Given the description of an element on the screen output the (x, y) to click on. 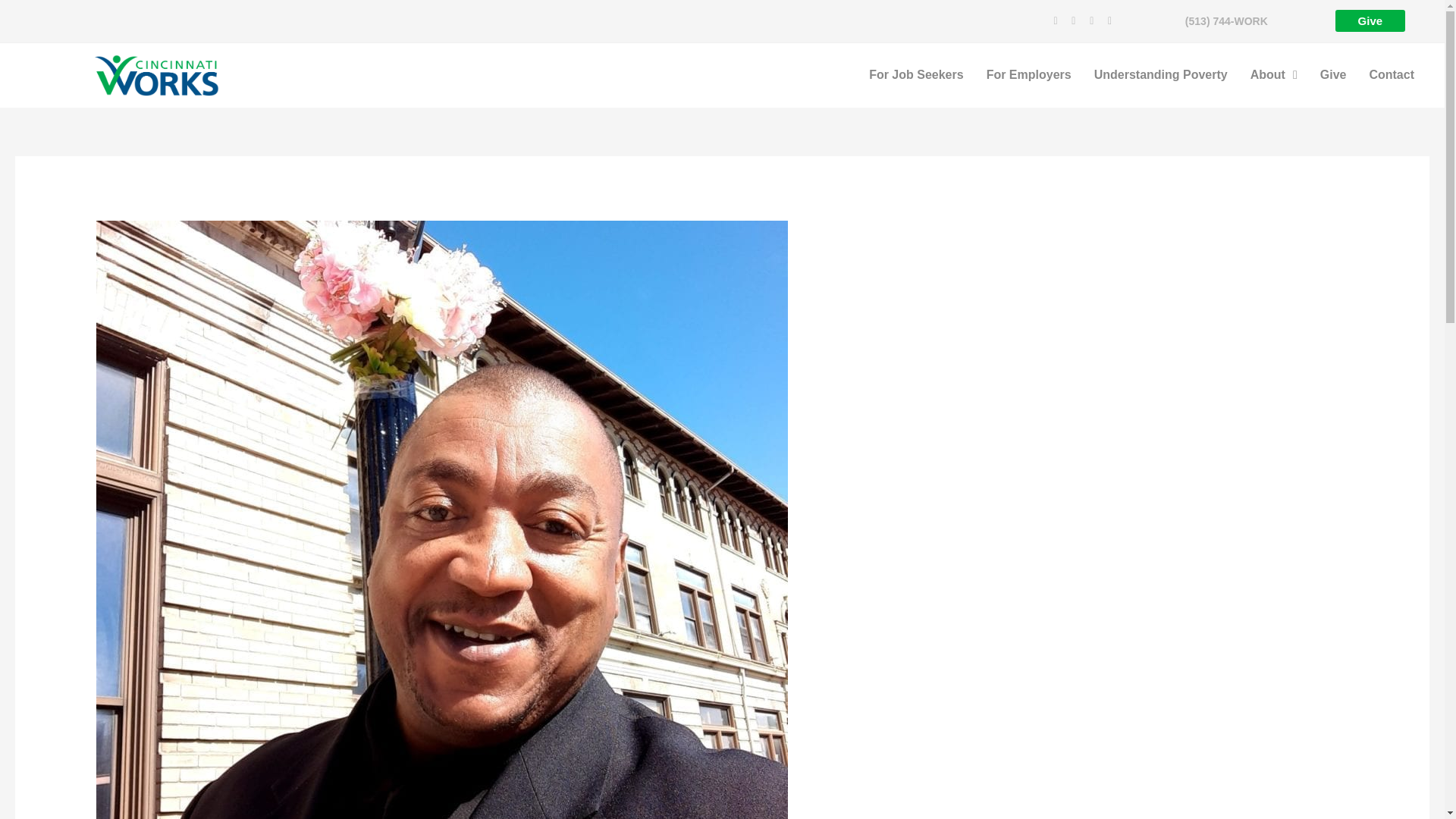
Give (1370, 20)
Twitter (1090, 21)
Linkedin (1073, 21)
Facebook (1055, 21)
Youtube (1109, 21)
